Given the description of an element on the screen output the (x, y) to click on. 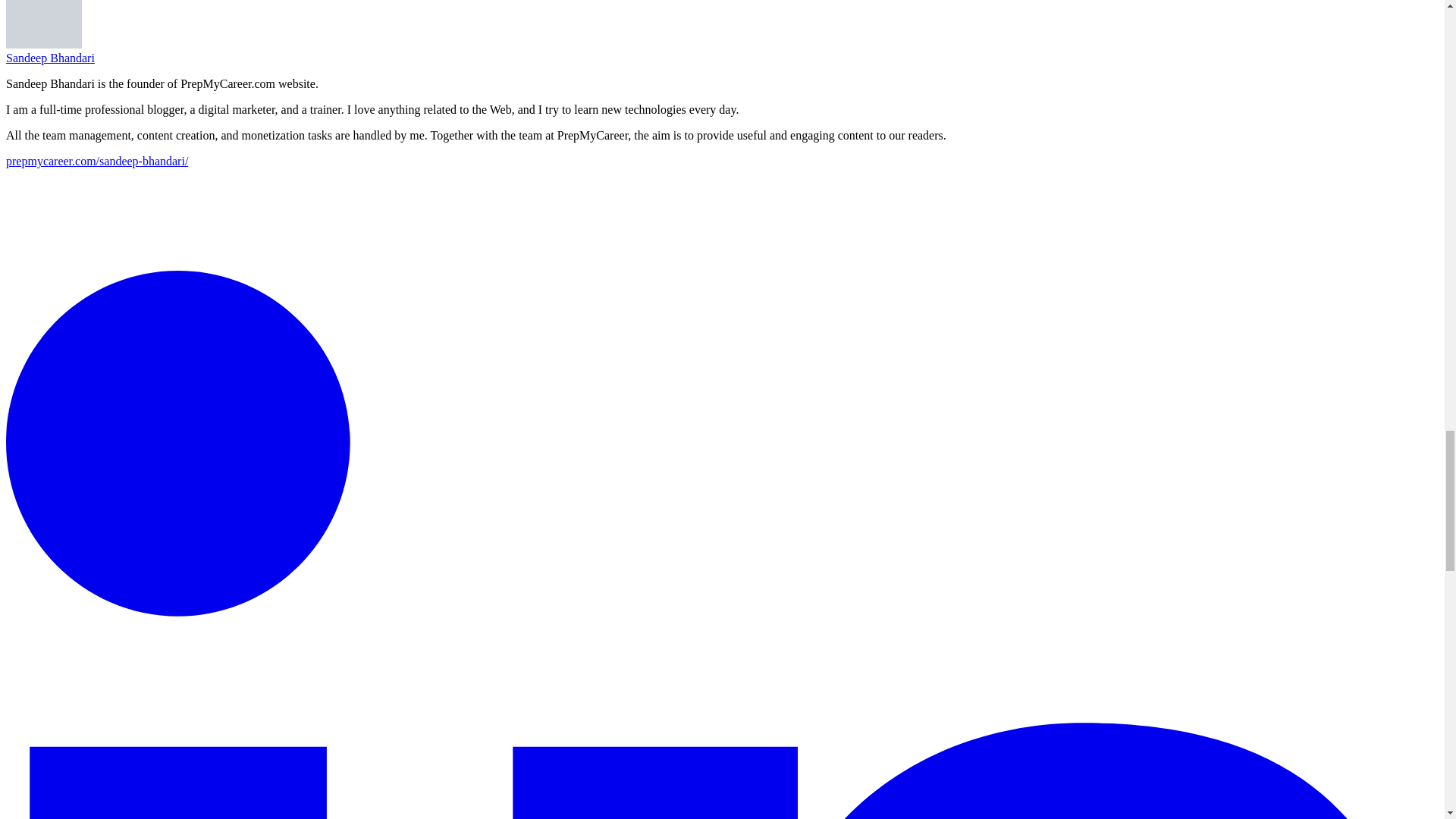
Sandeep Bhandari (49, 57)
